Given the description of an element on the screen output the (x, y) to click on. 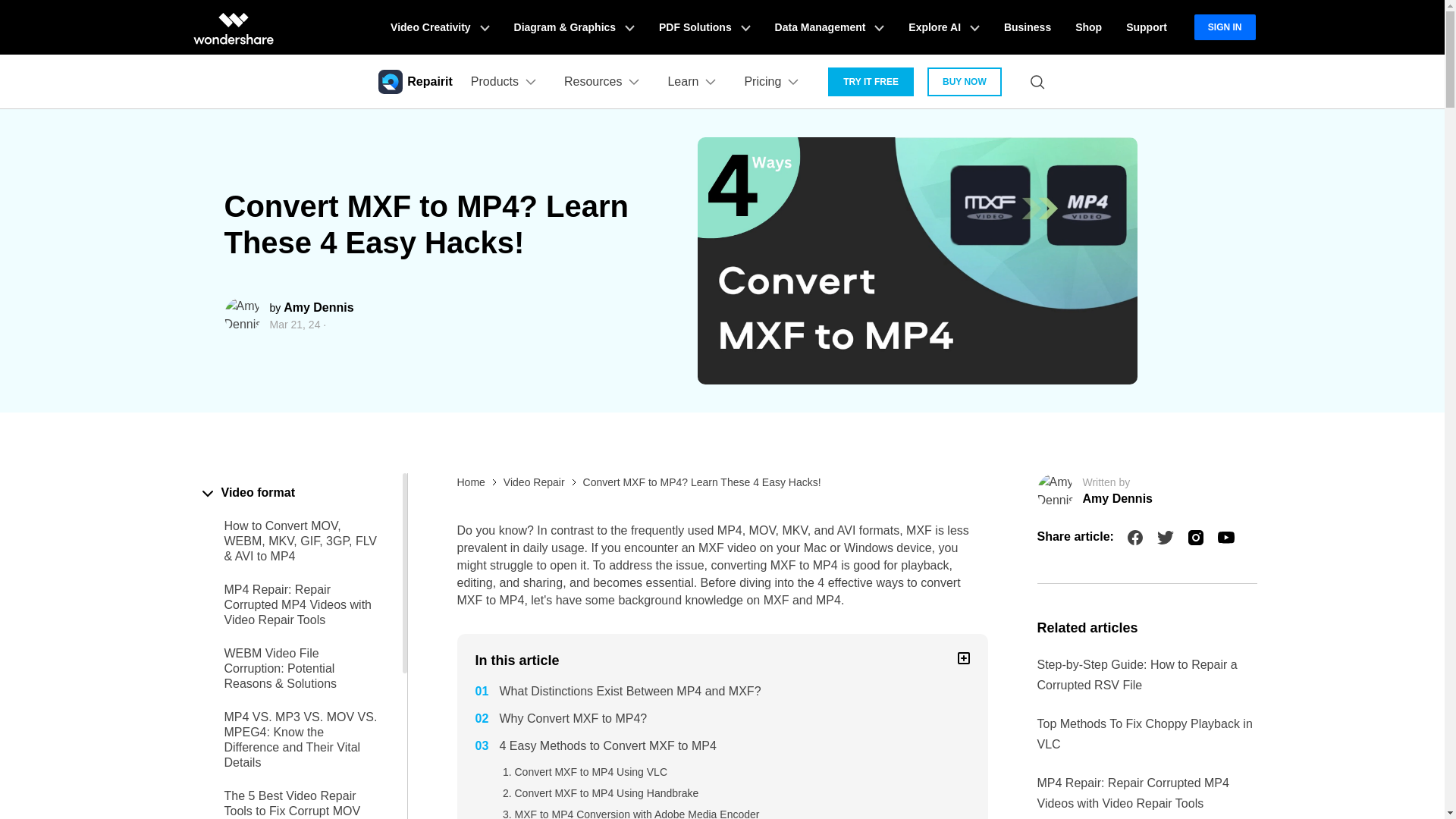
Video Creativity (439, 27)
PDF Solutions (704, 27)
Explore AI (943, 27)
Data Management (829, 27)
Business (1026, 27)
